Given the description of an element on the screen output the (x, y) to click on. 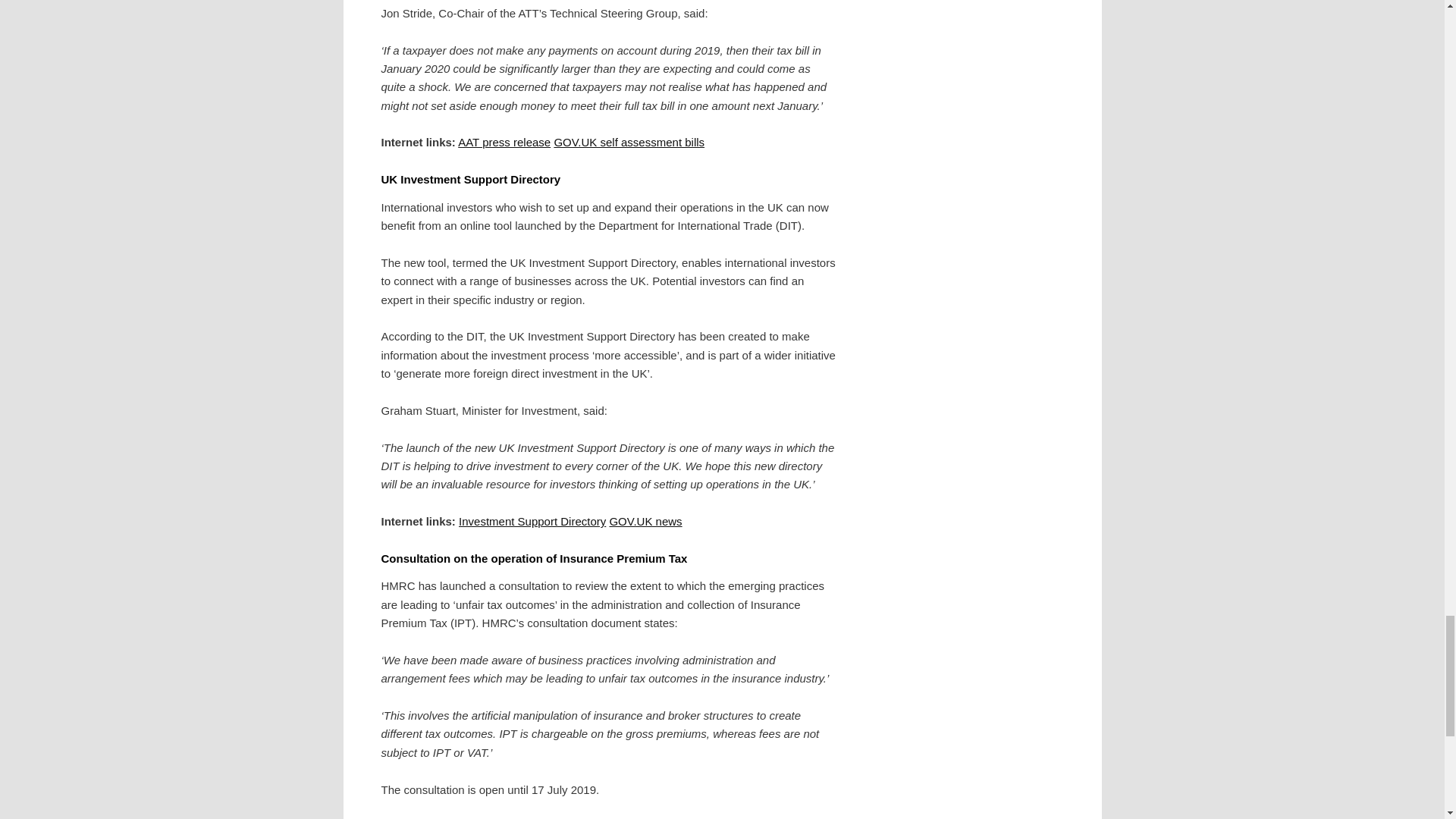
Investment Support Directory (531, 521)
GOV.UK news (644, 521)
GOV.UK self assessment bills (628, 141)
AAT press release (504, 141)
